Given the description of an element on the screen output the (x, y) to click on. 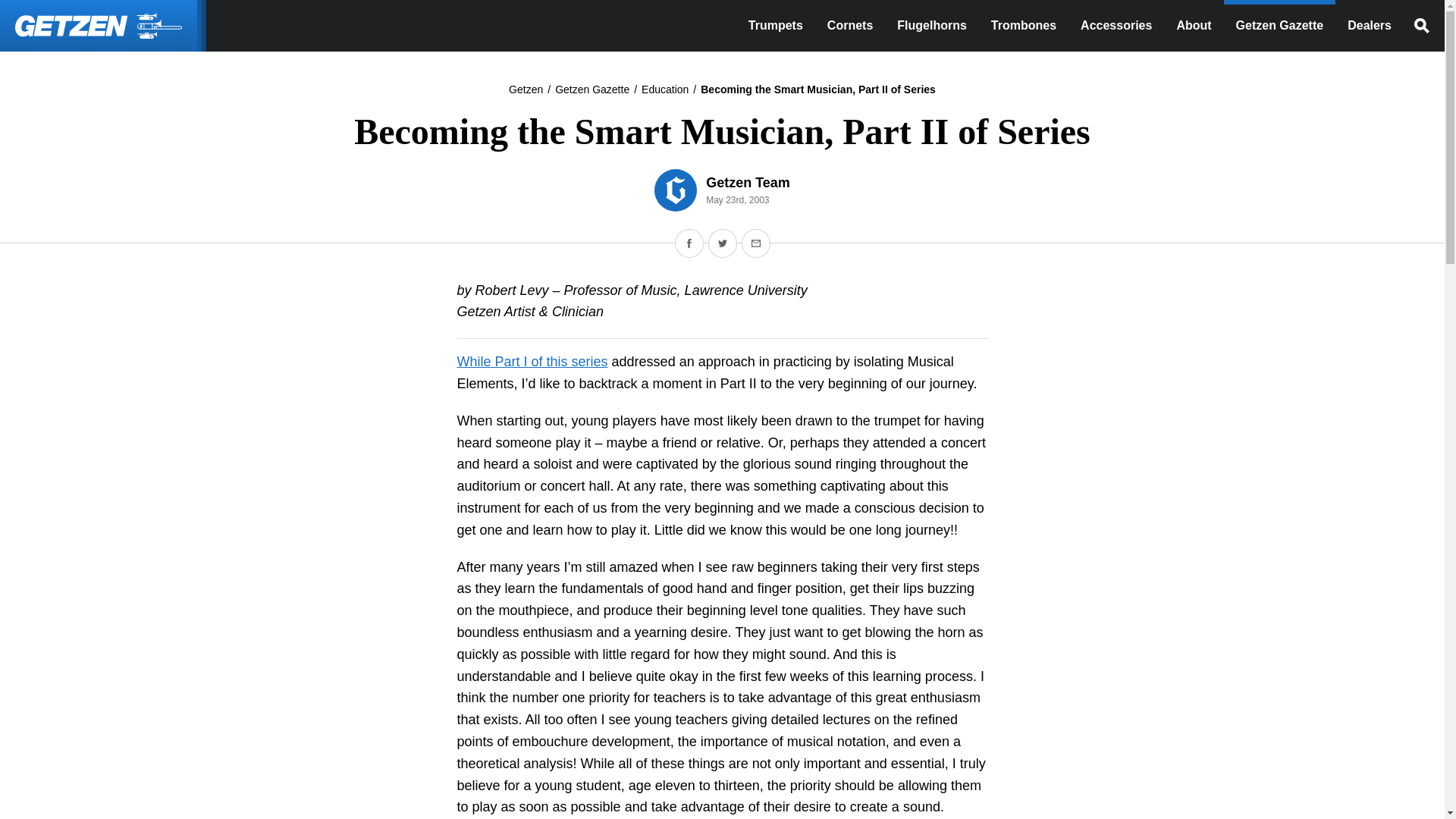
Trumpets (775, 25)
Go to Getzen Gazette. (591, 89)
Cornets (850, 25)
Go to Getzen. (525, 89)
Accessories (1115, 25)
About (1193, 25)
Flugelhorns (931, 25)
Go to the Education category archives. (665, 89)
Trombones (1023, 25)
